Given the description of an element on the screen output the (x, y) to click on. 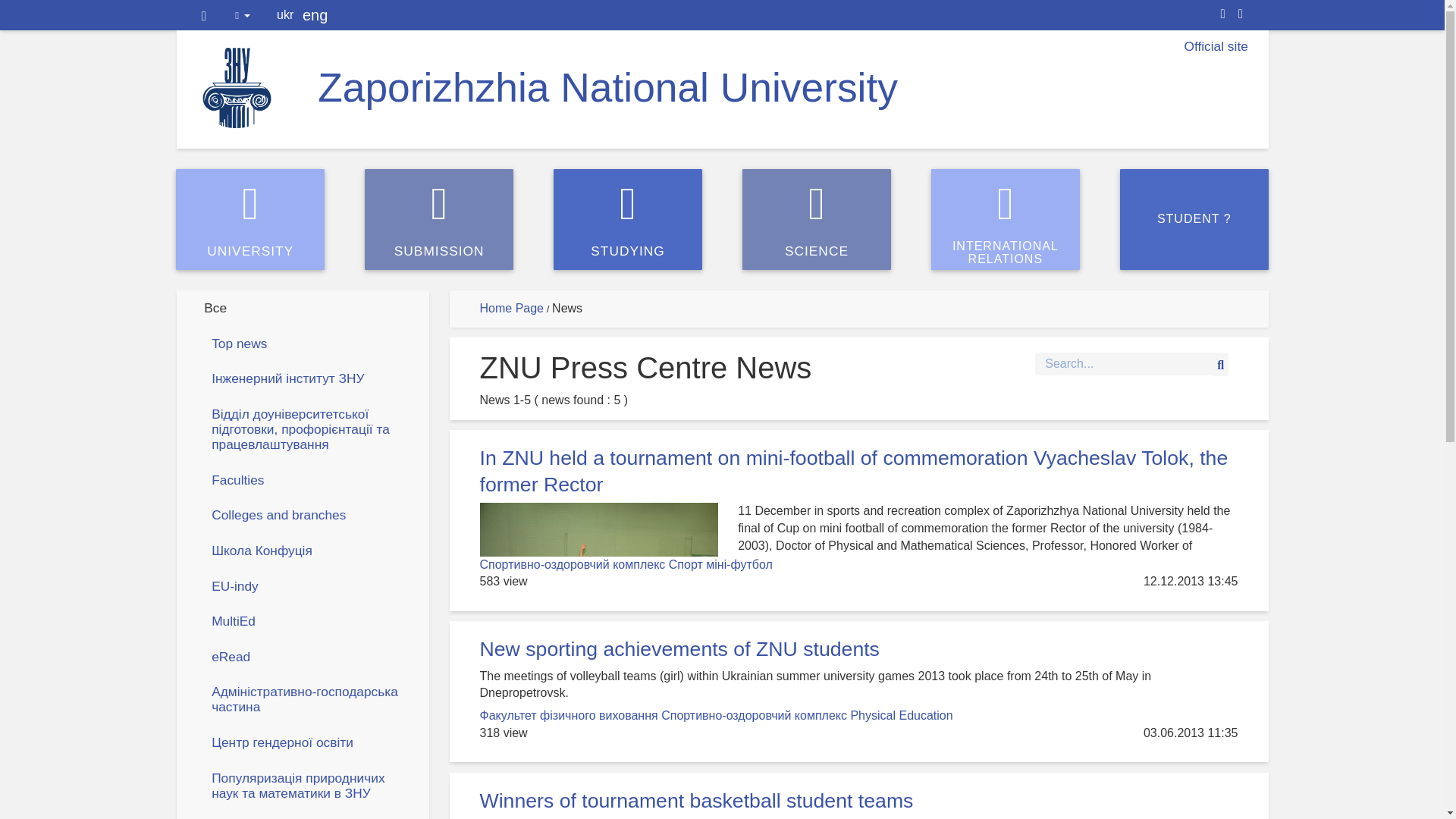
eRead (310, 656)
Official site (1215, 46)
SUBMISSION (1005, 219)
STUDYING (439, 219)
Home Page (627, 219)
Top news (511, 308)
EU-indy (310, 343)
Faculties (310, 585)
Zaporizhzhia National University (310, 479)
Colleges and branches (607, 87)
STUDENT ? (310, 514)
UNIVERSITY (1193, 219)
MultiEd (250, 219)
SCIENCE (310, 620)
